Given the description of an element on the screen output the (x, y) to click on. 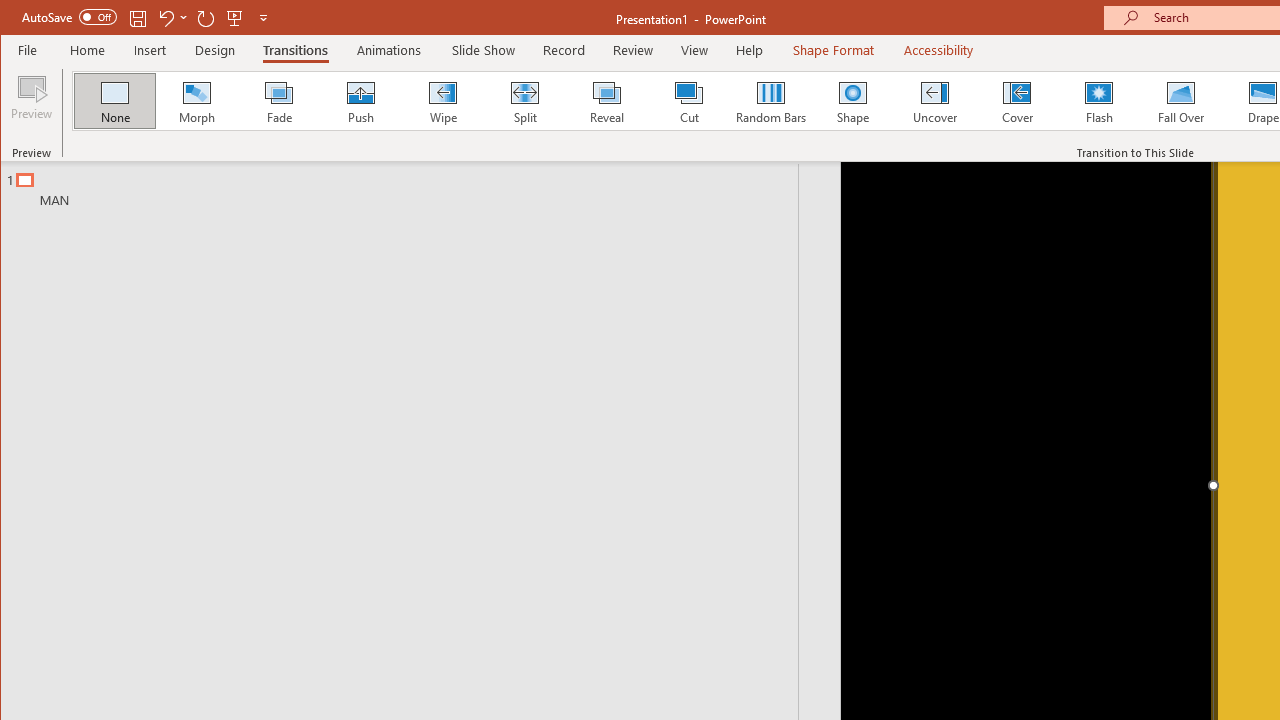
Redo (206, 17)
Outline (408, 185)
Design (215, 50)
Animations (388, 50)
Undo (171, 17)
Slide Show (482, 50)
Review (632, 50)
View (694, 50)
Customize Quick Access Toolbar (263, 17)
Push (360, 100)
Reveal (606, 100)
